Given the description of an element on the screen output the (x, y) to click on. 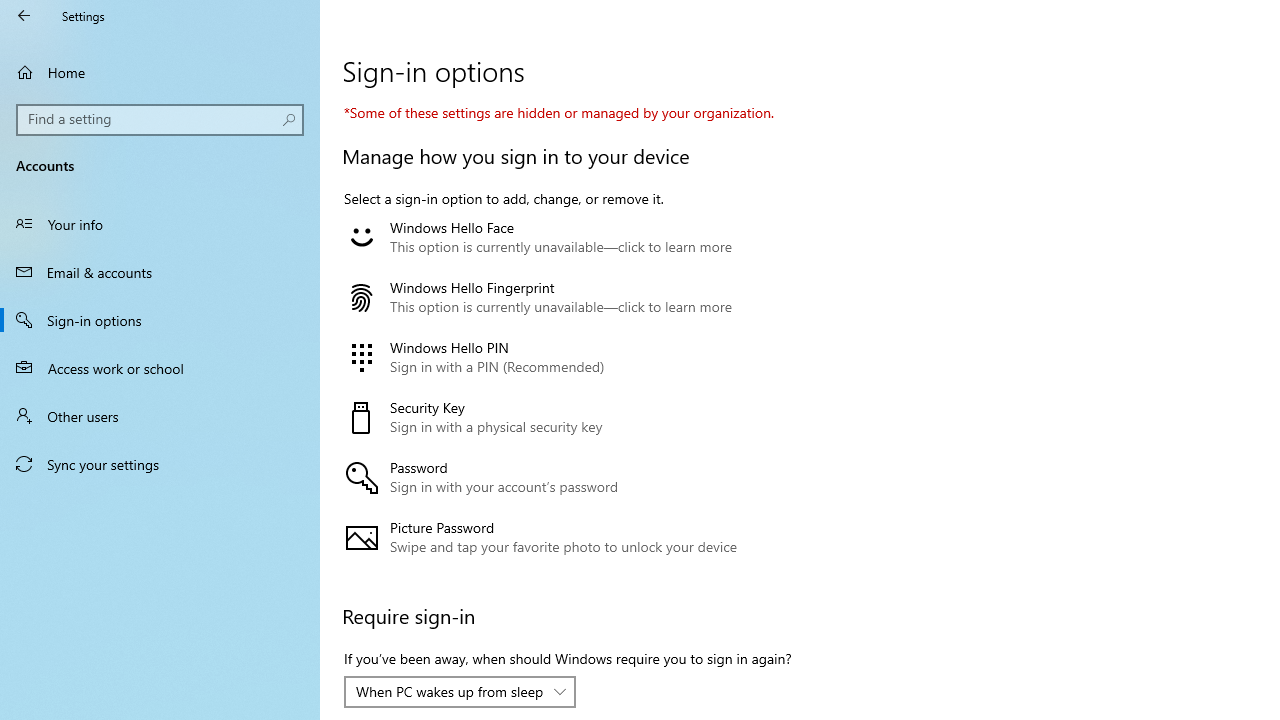
Sync your settings (160, 463)
